Given the description of an element on the screen output the (x, y) to click on. 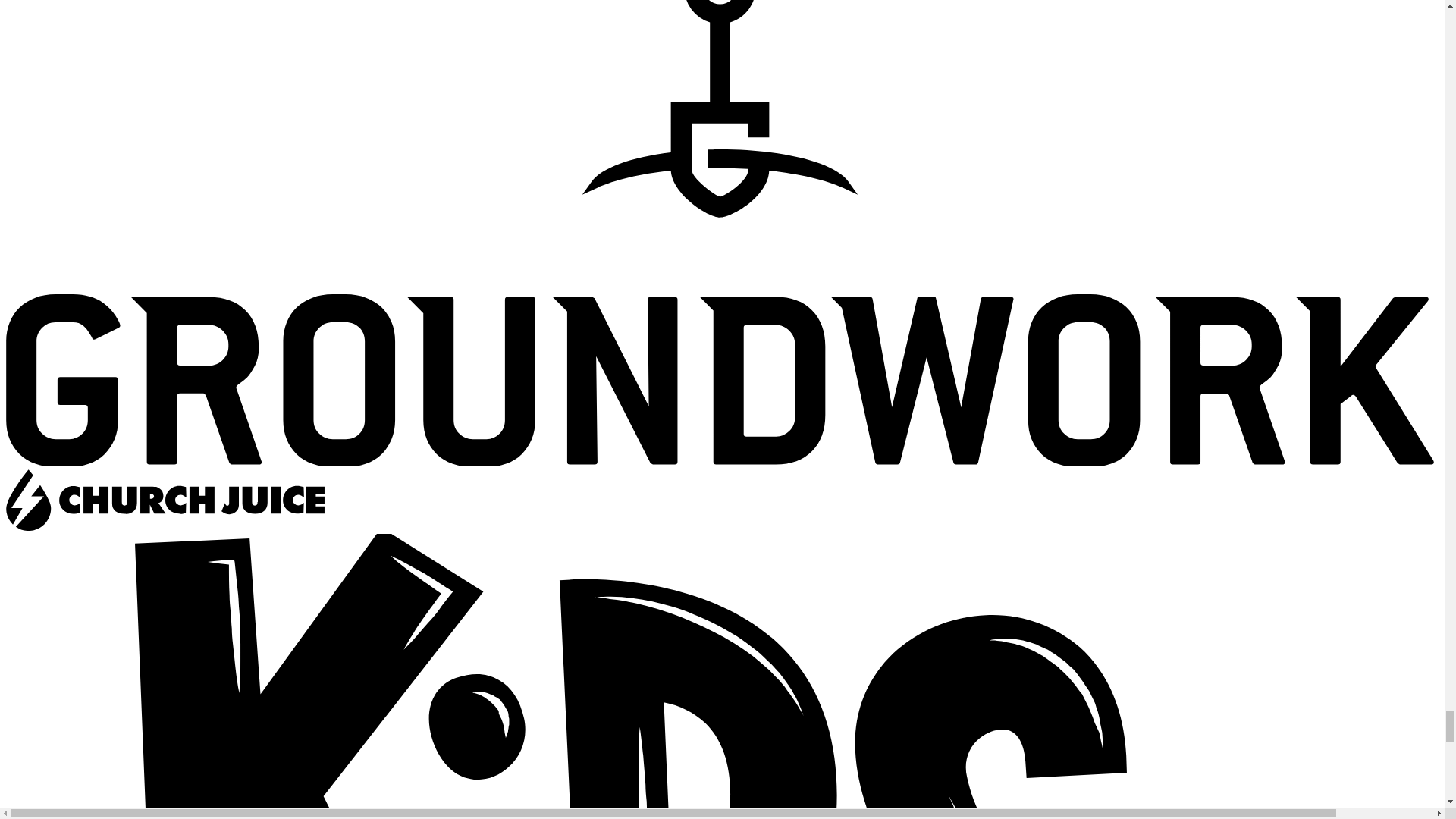
Church Juice - Energizing Church Communications (721, 558)
